Given the description of an element on the screen output the (x, y) to click on. 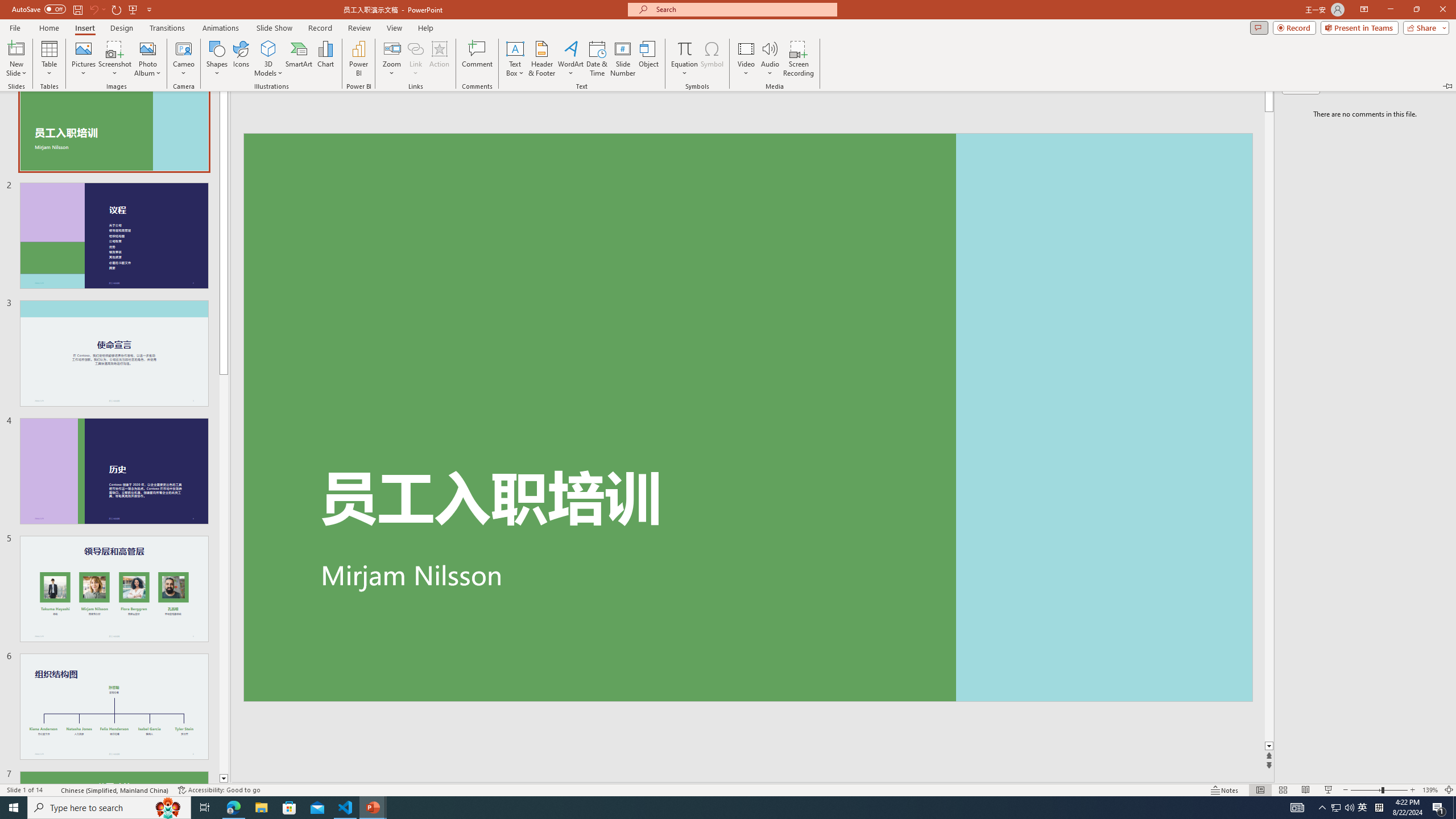
Text Effects and Typography (252, 102)
Class: NetUIScrollBar (1448, 450)
Distributed (496, 102)
Shrink Font (266, 77)
Open (226, 77)
Page Number Page 1 of 1 (30, 773)
Page 1 content (720, 468)
